Given the description of an element on the screen output the (x, y) to click on. 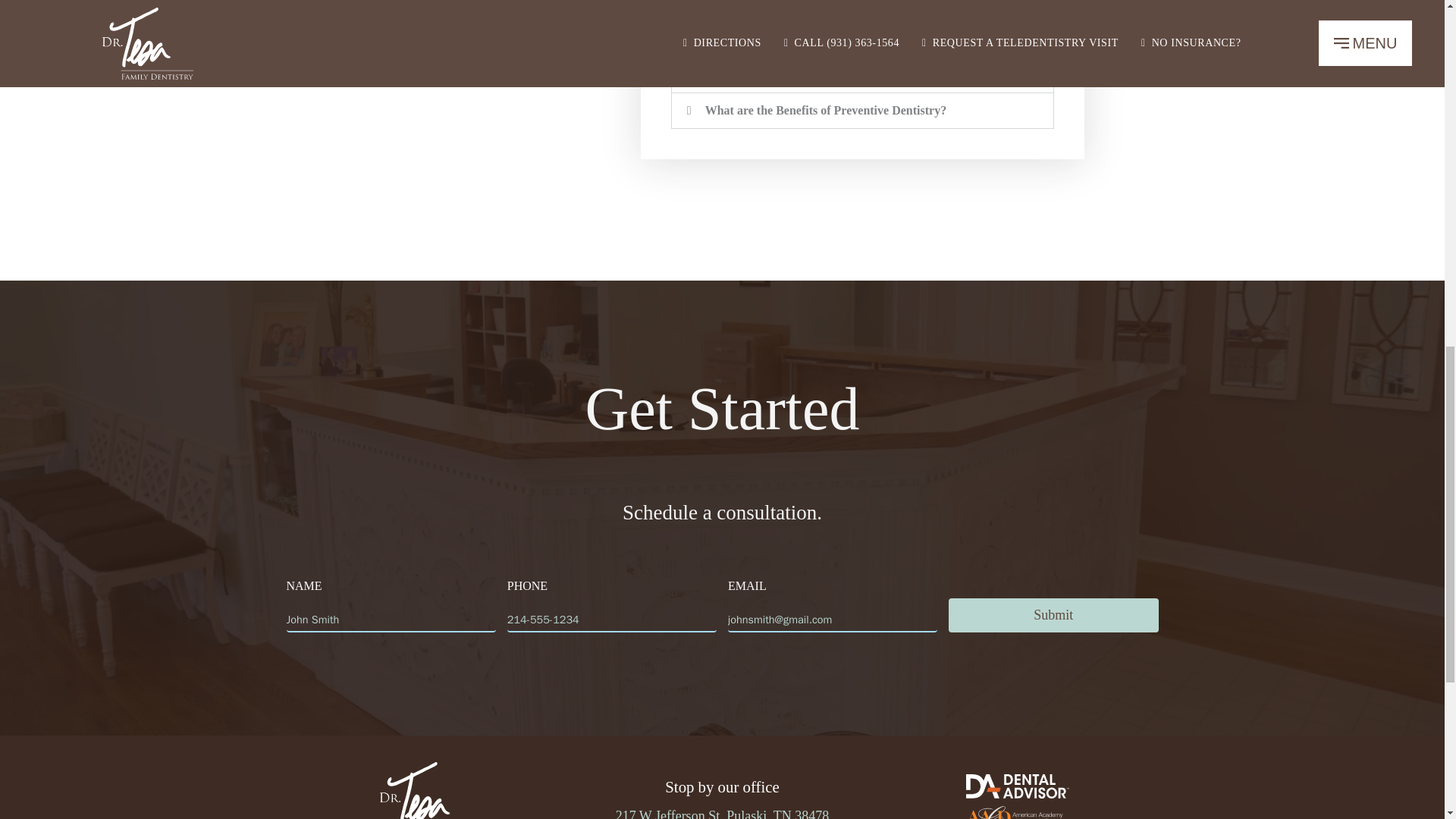
What Does Preventive Dentistry Do? (799, 38)
What are the Benefits of Preventive Dentistry? (825, 110)
Who Benefits from Preventive Dentistry? (811, 74)
217 W Jefferson St, Pulaski, TN 38478 (722, 813)
Submit (1053, 615)
